Given the description of an element on the screen output the (x, y) to click on. 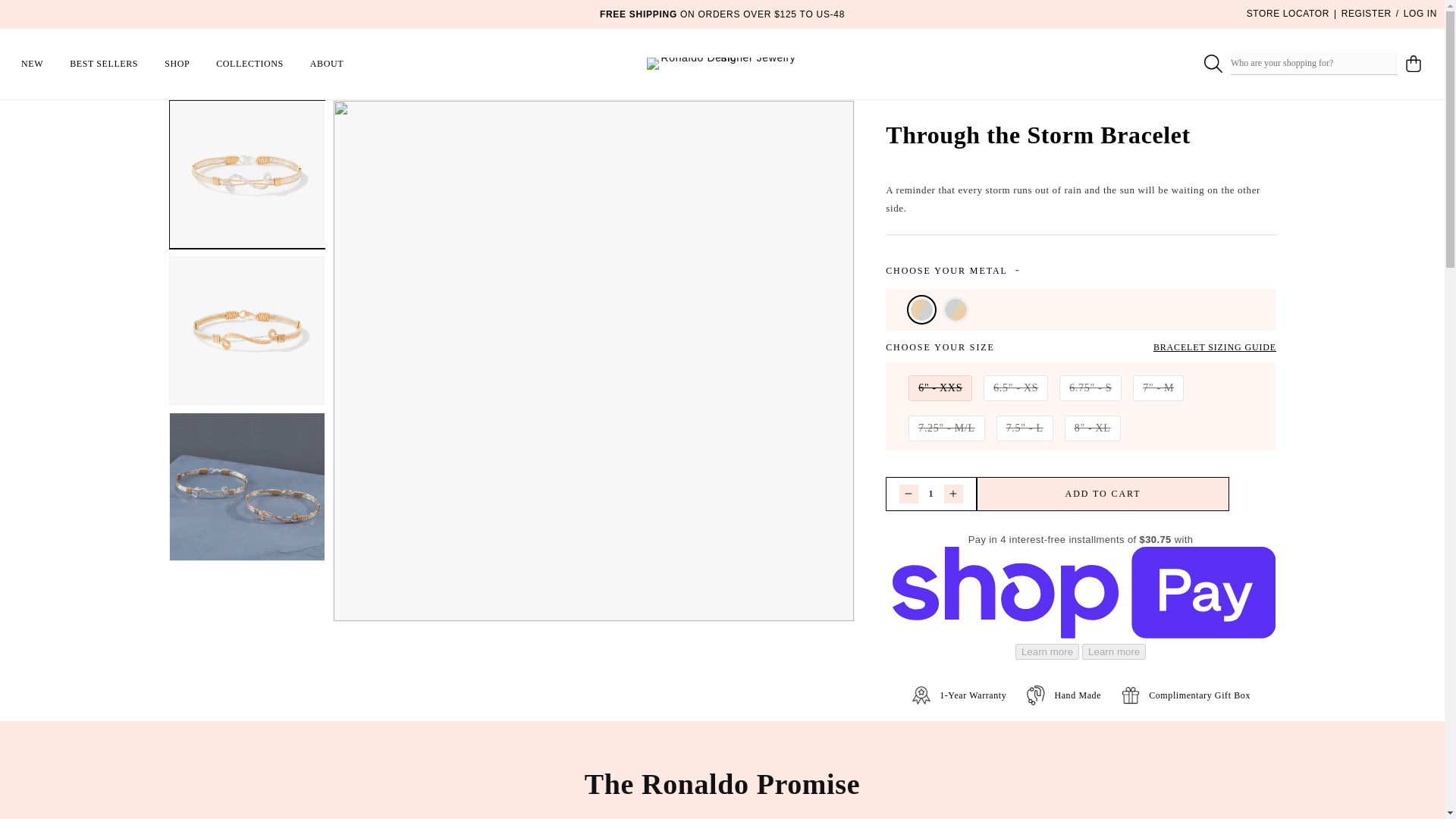
LOG IN (1420, 14)
STORE LOCATOR (1287, 13)
REGISTER (1365, 14)
Skip to content (45, 17)
1 (930, 493)
